Given the description of an element on the screen output the (x, y) to click on. 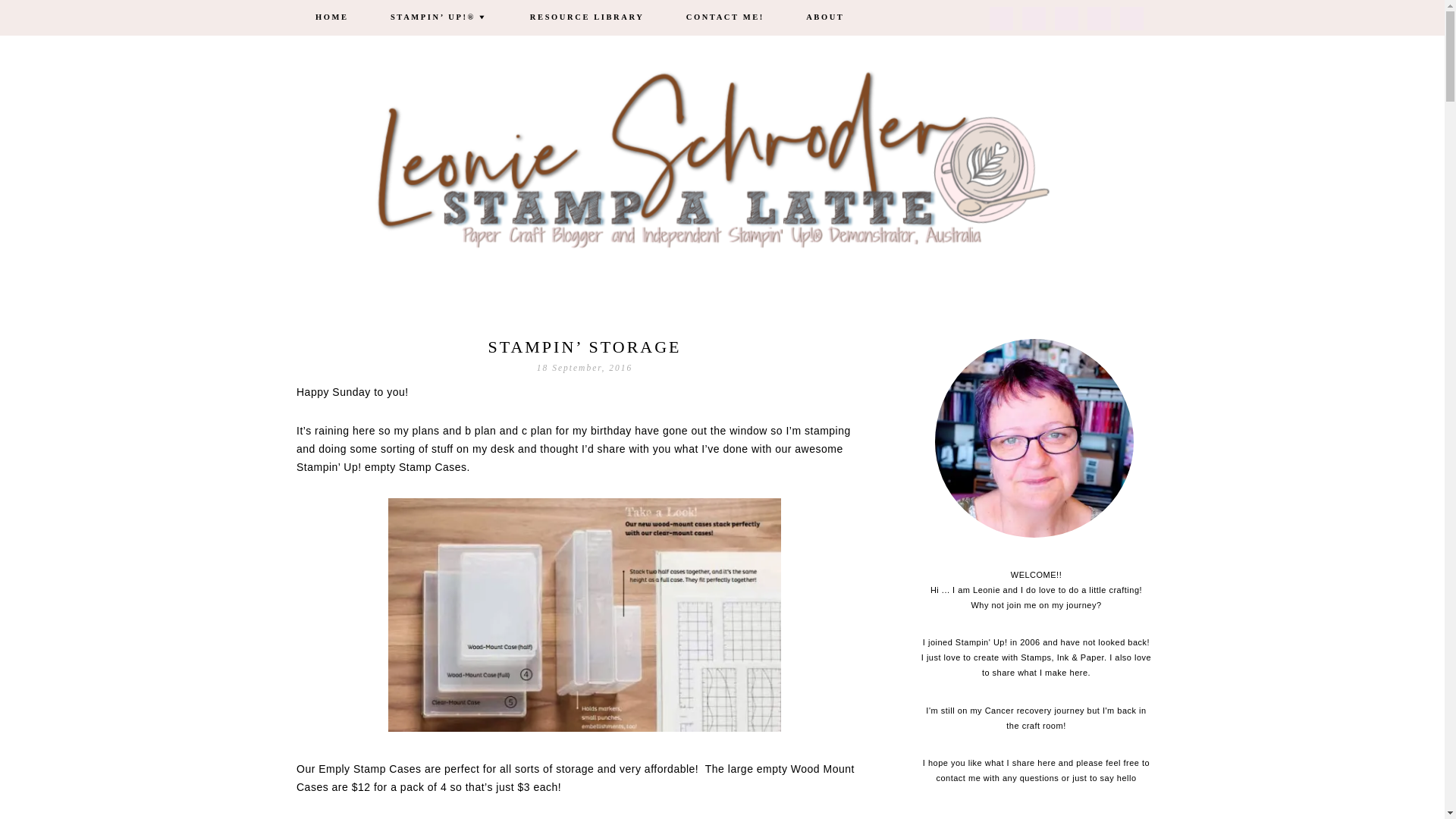
CONTACT ME! (724, 18)
ABOUT (825, 18)
RESOURCE LIBRARY (587, 18)
HOME (332, 18)
